Given the description of an element on the screen output the (x, y) to click on. 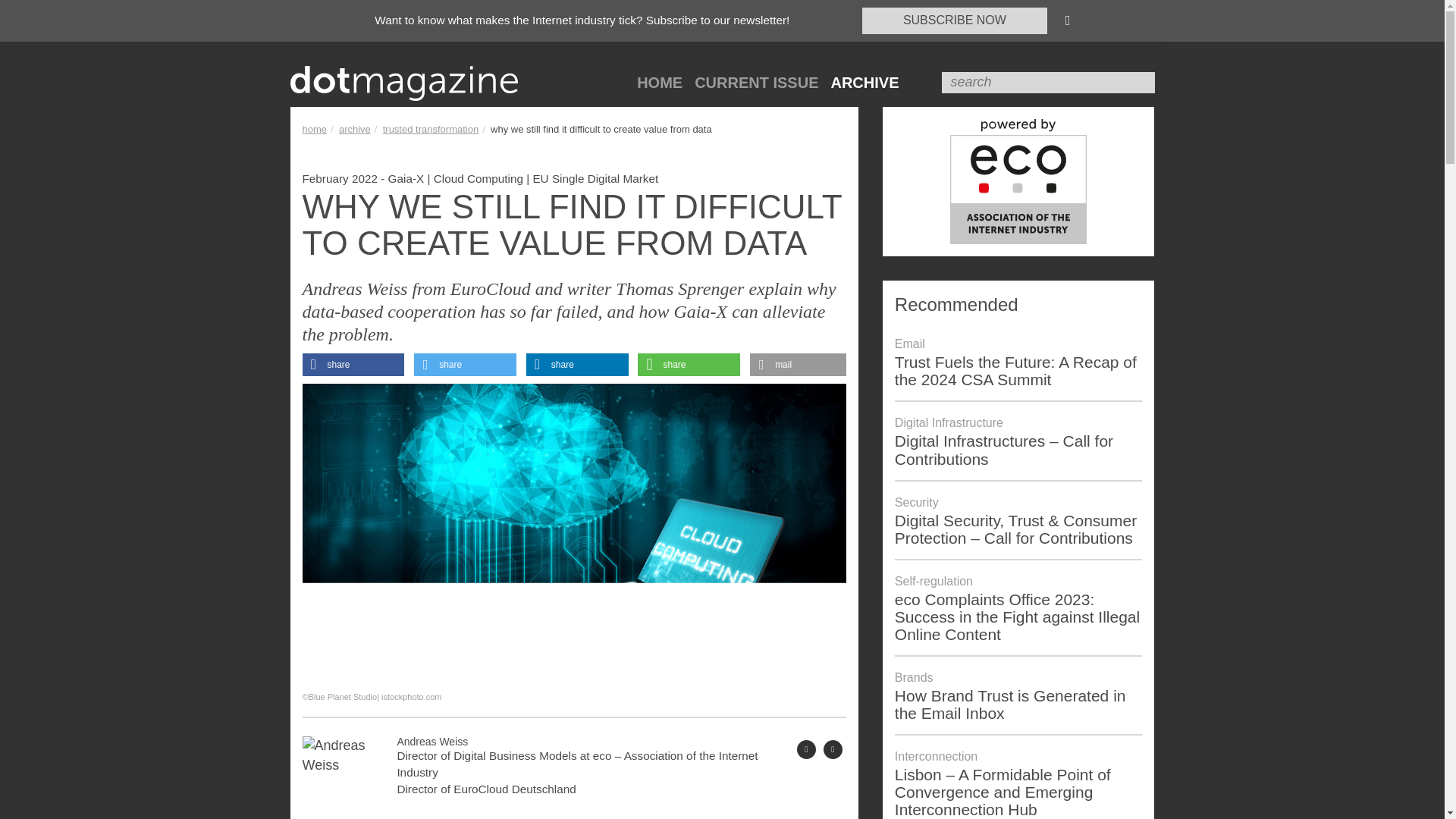
mail (797, 363)
home (313, 129)
share (688, 363)
ARCHIVE (864, 82)
trusted transformation (430, 129)
share (352, 363)
Share on Twitter (464, 363)
HOME (659, 82)
Share on Facebook (352, 363)
Issues (355, 129)
CURRENT ISSUE (756, 82)
Cloud Computing (477, 178)
Share on Whatsapp (688, 363)
SUBSCRIBE NOW (953, 20)
home (313, 129)
